Given the description of an element on the screen output the (x, y) to click on. 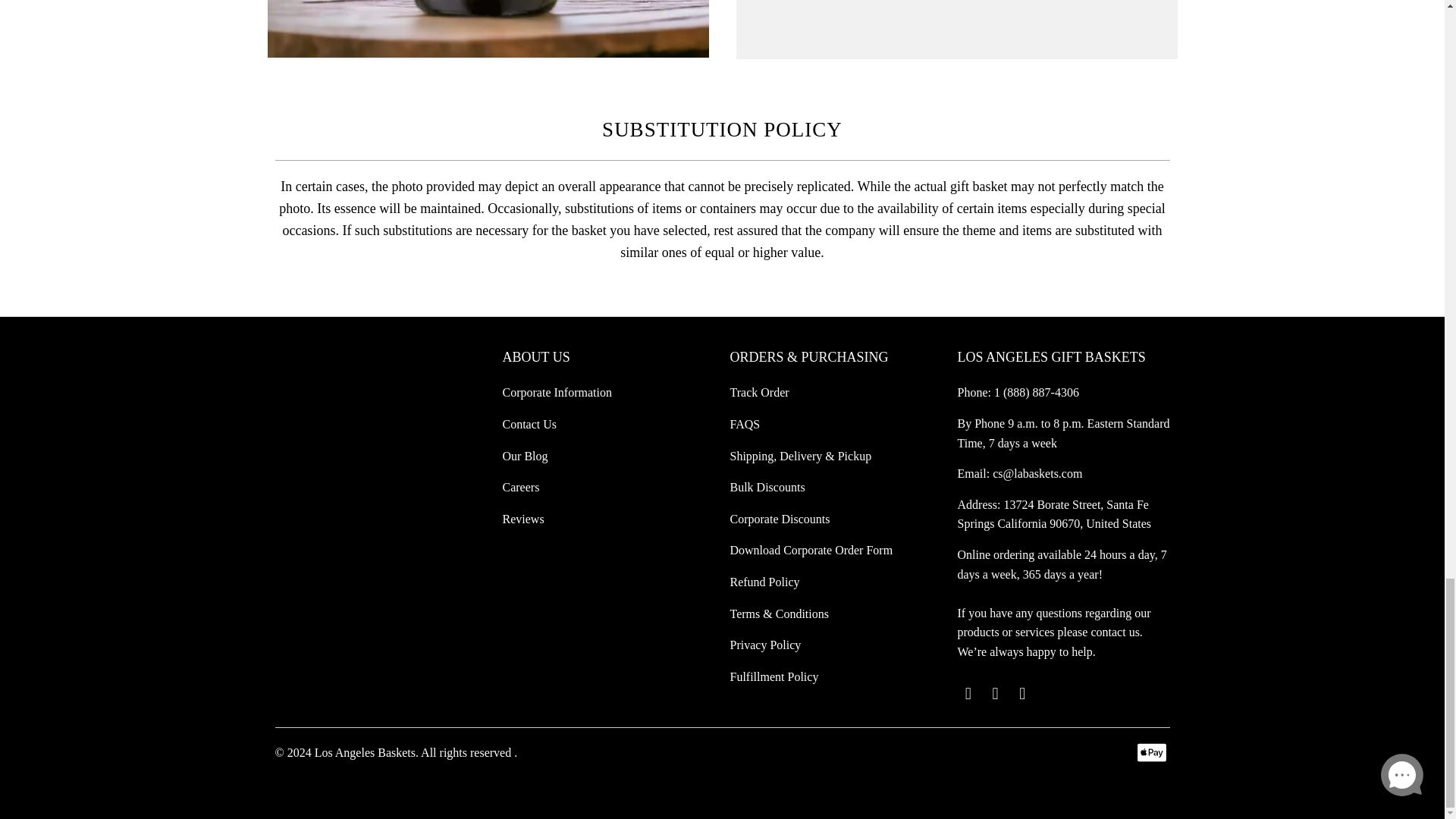
American Andre Brut Champagne (486, 29)
Los Angeles Baskets on Twitter (967, 693)
Los Angeles Baskets on Instagram (1022, 693)
Los Angeles Baskets on Facebook (995, 693)
